Given the description of an element on the screen output the (x, y) to click on. 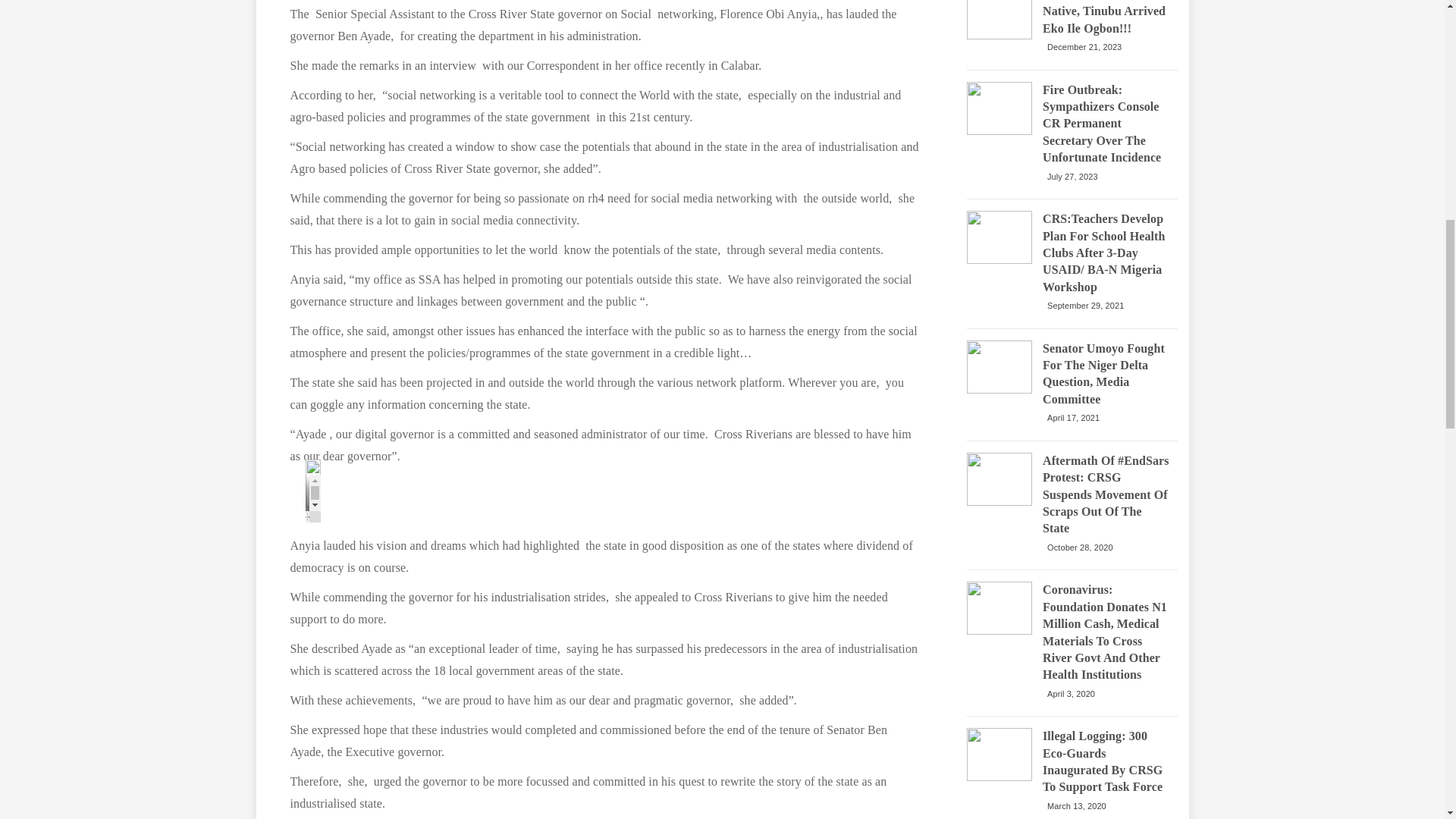
The Return Of The Native, Tinubu Arrived Eko Ile Ogbon!!! (999, 19)
The Return Of The Native, Tinubu Arrived Eko Ile Ogbon!!! (1106, 18)
